Given the description of an element on the screen output the (x, y) to click on. 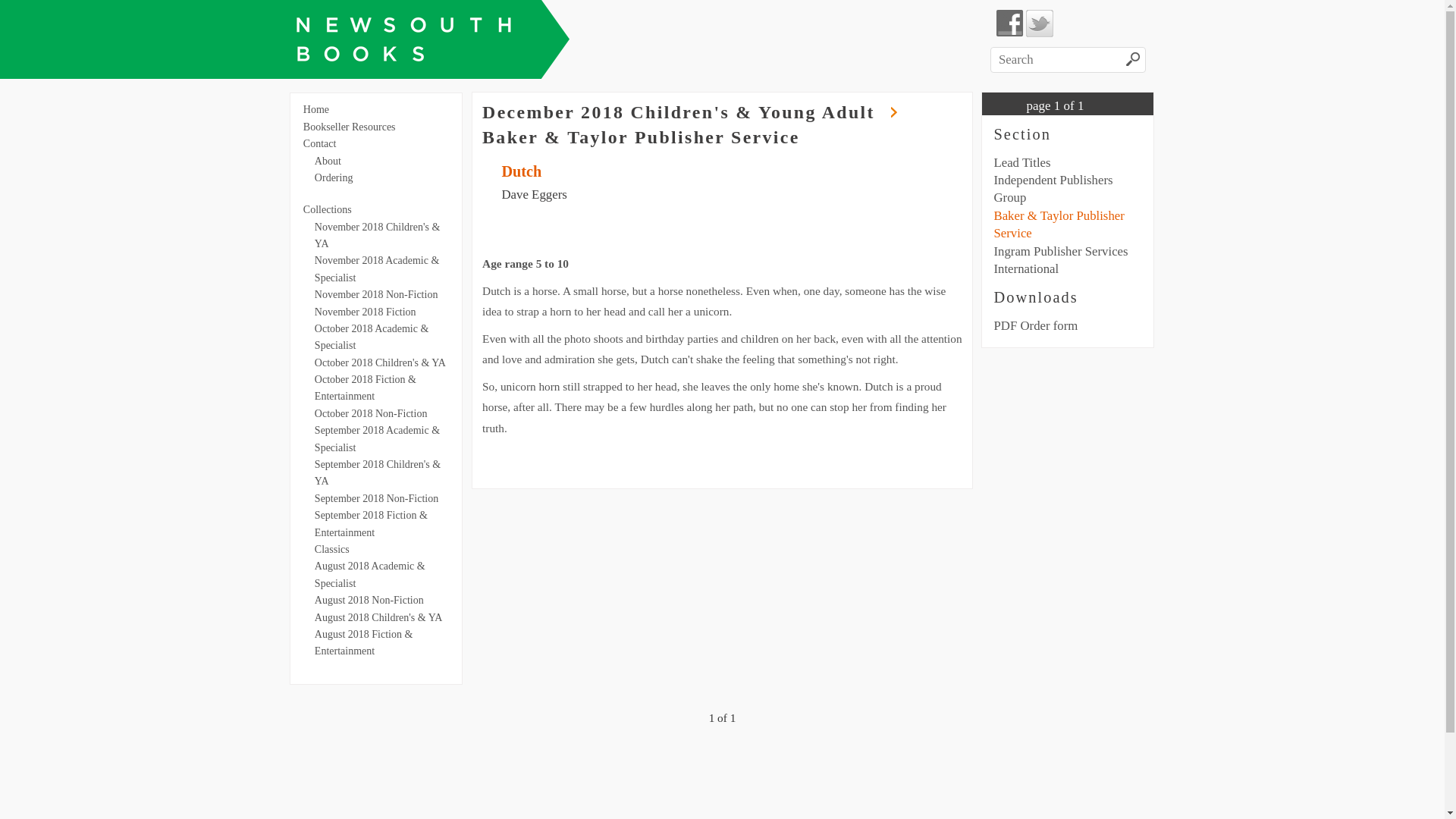
Search (1132, 60)
Facebook (1009, 22)
Twitter (1039, 22)
